Given the description of an element on the screen output the (x, y) to click on. 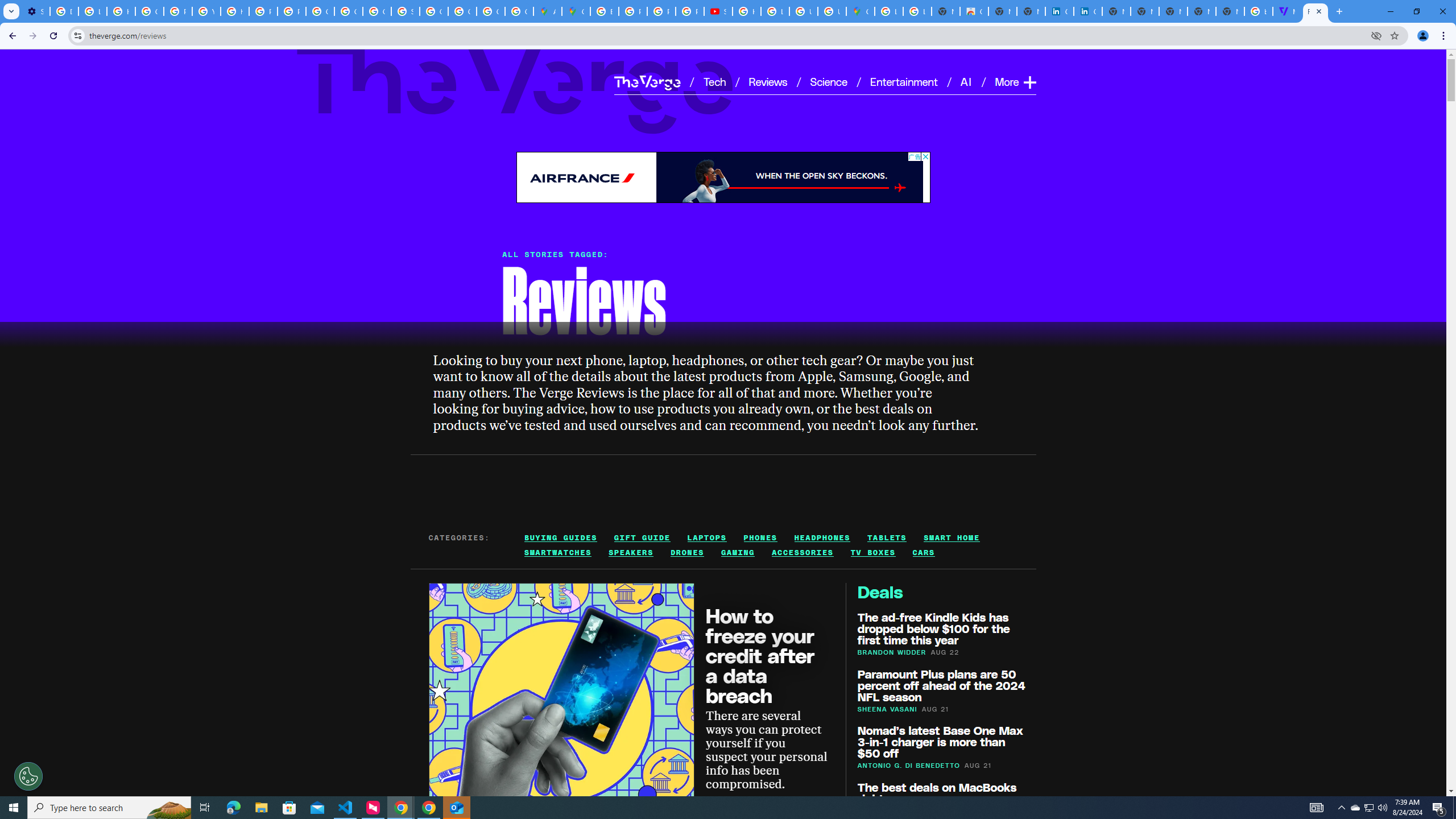
The Verge (515, 85)
How to freeze your credit after a data breach (760, 654)
Privacy Help Center - Policies Help (263, 11)
HEADPHONES (821, 537)
More Expand (1015, 81)
AI (966, 81)
Learn how to find your photos - Google Photos Help (92, 11)
SHEENA VASANI (887, 708)
